Given the description of an element on the screen output the (x, y) to click on. 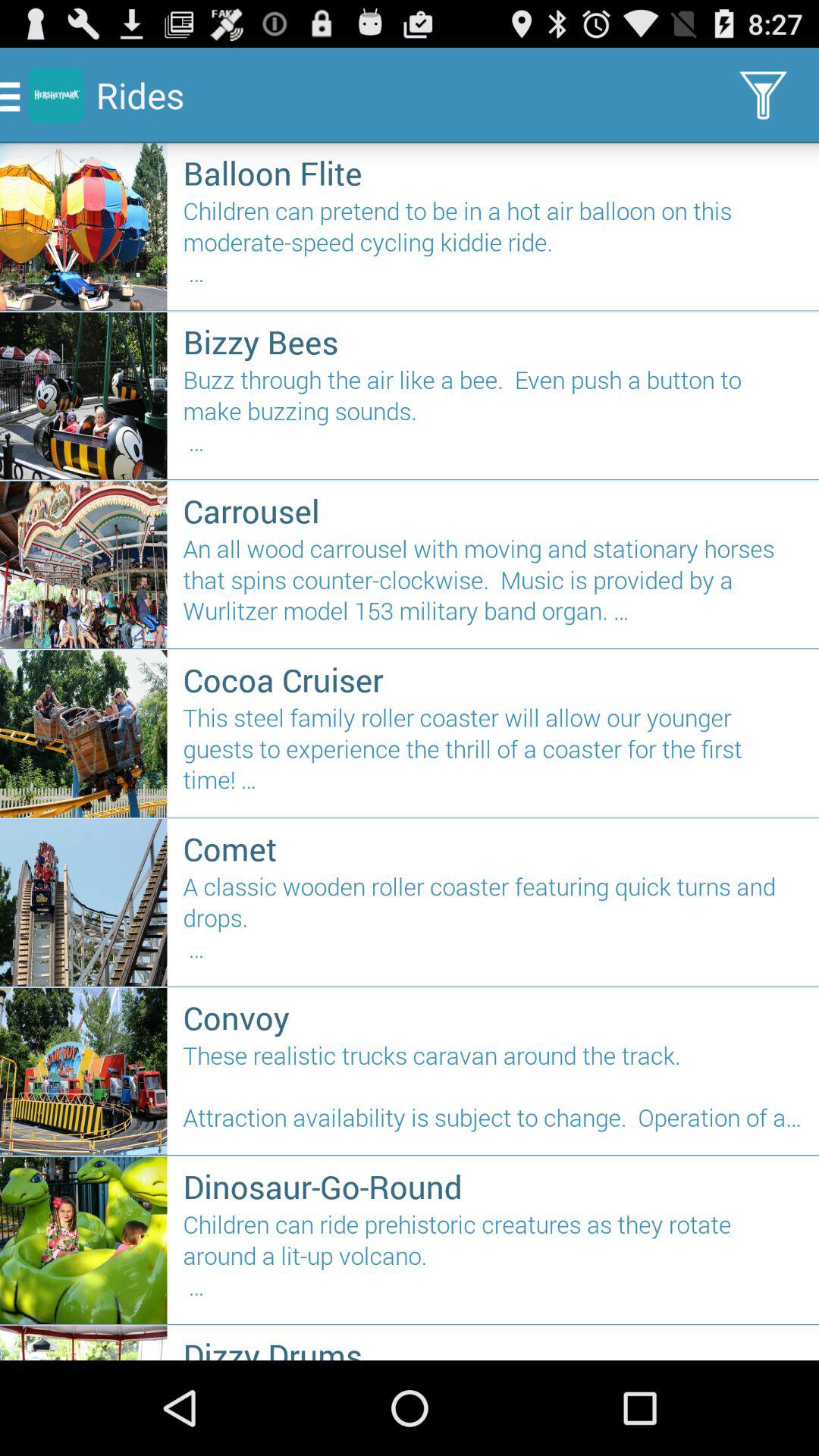
open an all wood (493, 586)
